Given the description of an element on the screen output the (x, y) to click on. 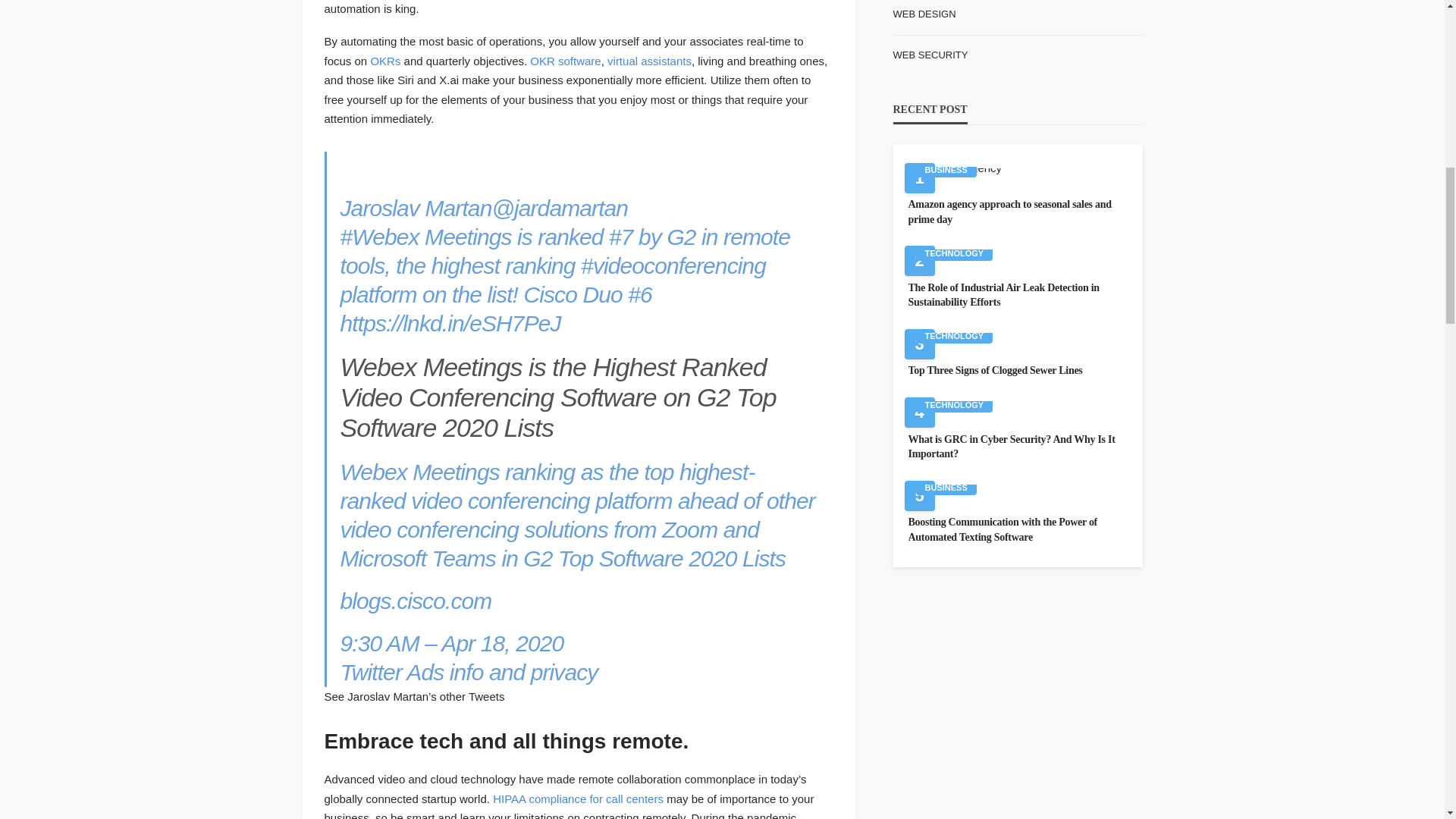
Twitter Ads info and privacy (467, 672)
Jaroslav Martan (415, 207)
OKR software (564, 60)
Twitter Ads info and privacy (467, 672)
HIPAA compliance for call centers (578, 798)
virtual assistants (649, 60)
OKRs (384, 60)
